Given the description of an element on the screen output the (x, y) to click on. 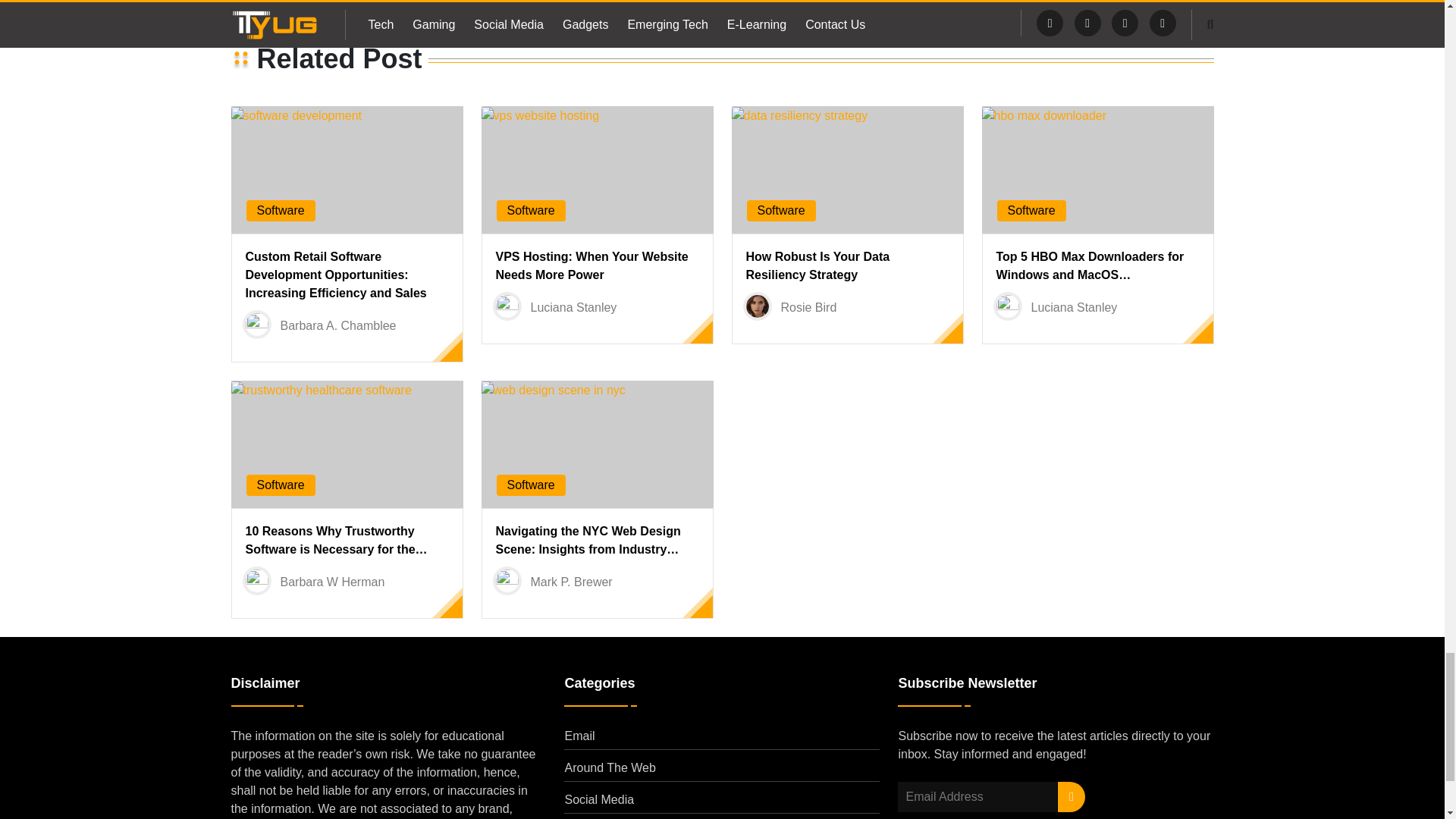
Software (530, 210)
Luciana Stanley (574, 307)
VPS Hosting: When Your Website Needs More Power (592, 265)
Software (280, 210)
Barbara A. Chamblee (338, 325)
